Given the description of an element on the screen output the (x, y) to click on. 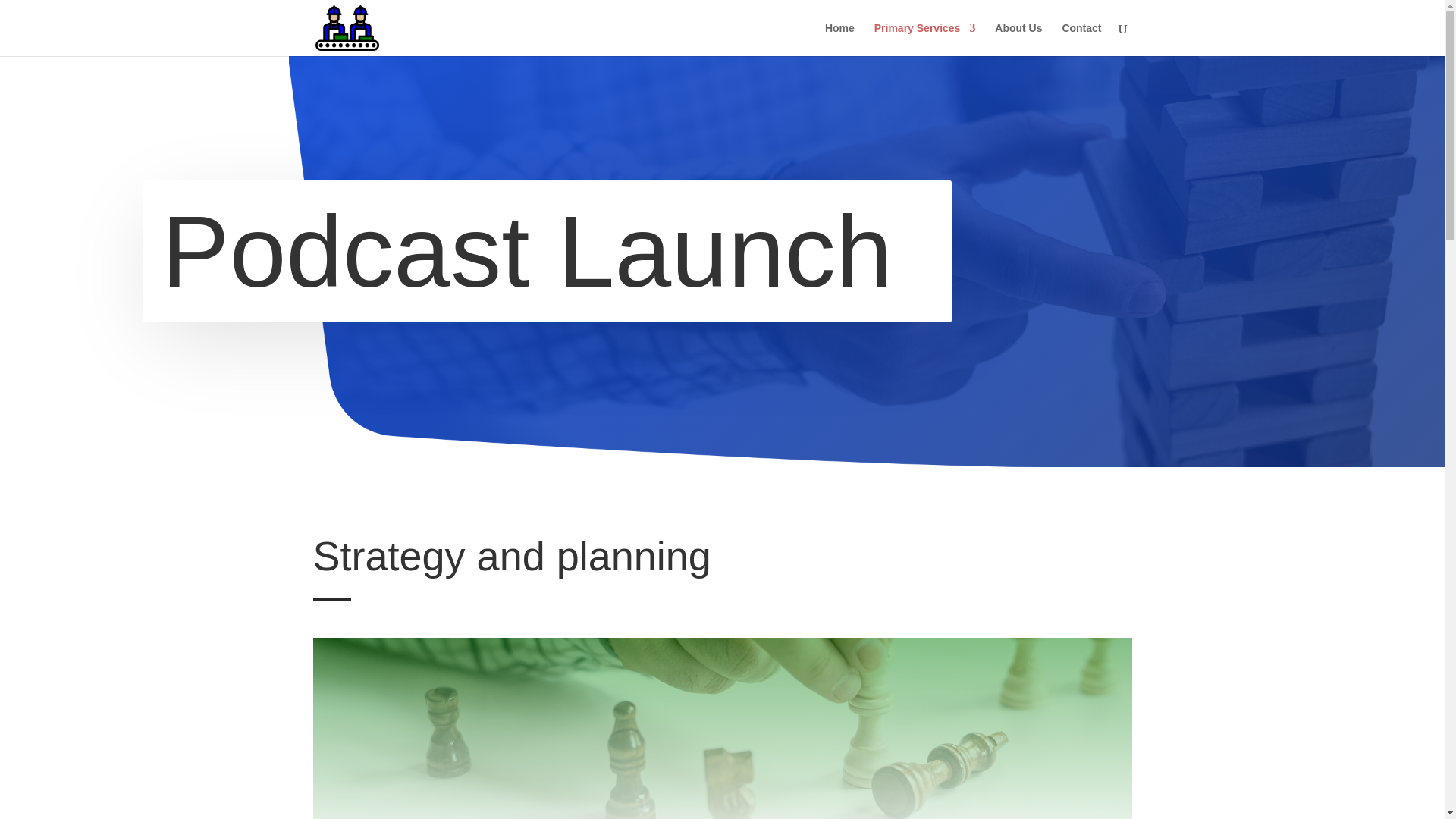
About Us (1018, 39)
Primary Services (925, 39)
Contact (1080, 39)
